Given the description of an element on the screen output the (x, y) to click on. 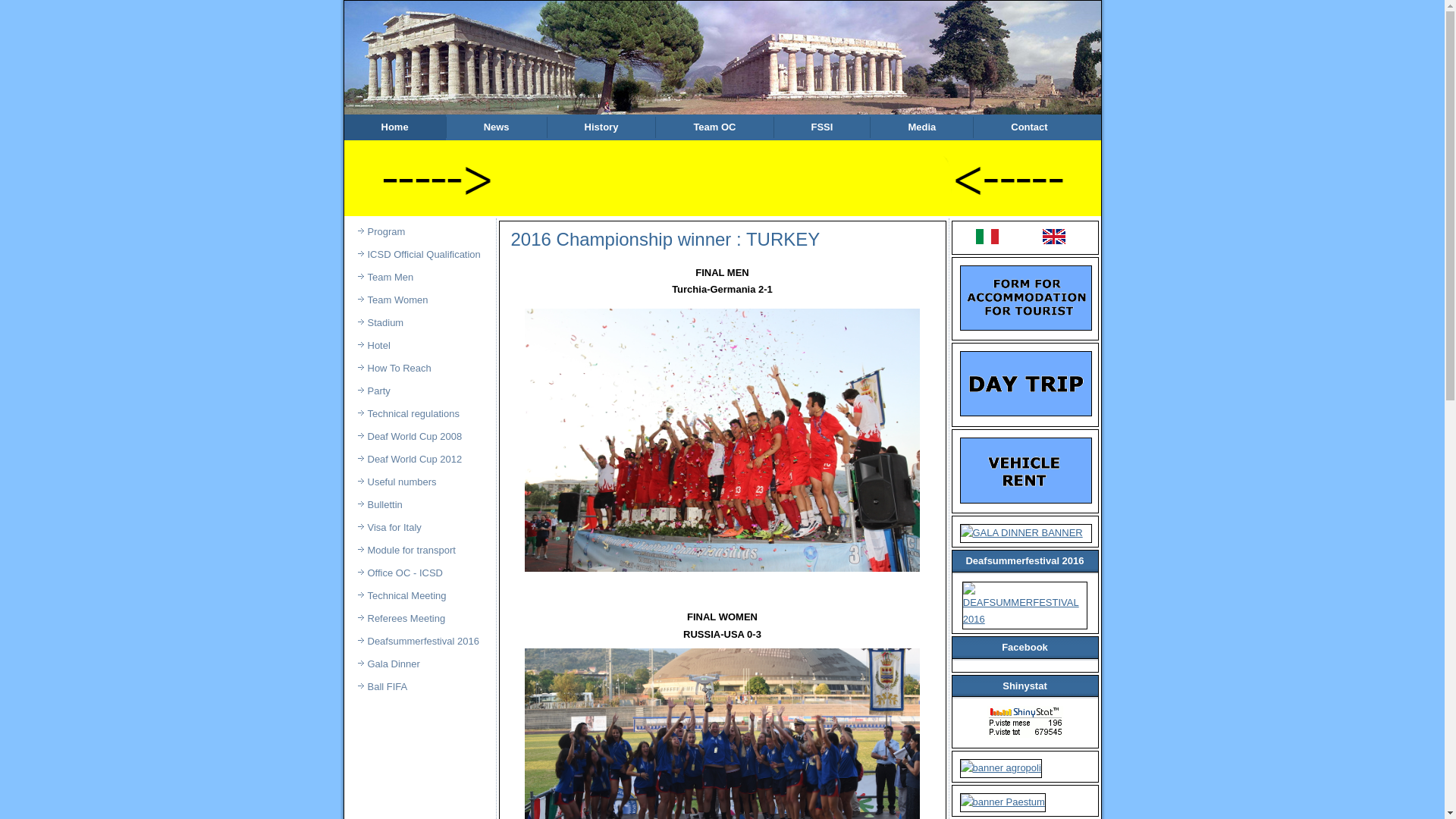
Media Element type: text (921, 127)
News Element type: text (496, 127)
Ball FIFA Element type: text (418, 686)
English (UK) Element type: hover (1053, 236)
Bullettin Element type: text (418, 504)
Team OC Element type: text (713, 127)
Stadium Element type: text (418, 322)
Team Women Element type: text (418, 299)
Contact Element type: text (1028, 127)
Deaf World Cup 2012 Element type: text (418, 459)
Team Men Element type: text (418, 277)
How To Reach Element type: text (418, 368)
ICSD Official Qualification Element type: text (418, 254)
Home Element type: text (394, 127)
Technical Meeting Element type: text (418, 595)
History Element type: text (601, 127)
Deafsummerfestival 2016 Element type: text (418, 641)
Party Element type: text (418, 390)
Technical regulations Element type: text (418, 413)
Hotel Element type: text (418, 345)
Gala Dinner Element type: text (418, 663)
FSSI Element type: text (821, 127)
Visa for Italy Element type: text (418, 527)
Program Element type: text (418, 231)
Module for transport Element type: text (418, 550)
Useful numbers Element type: text (418, 481)
Referees Meeting Element type: text (418, 618)
Office OC - ICSD Element type: text (418, 572)
Deaf World Cup 2008 Element type: text (418, 436)
Italian (IT) Element type: hover (986, 236)
2016 Championship winner : TURKEY Element type: text (665, 239)
